Given the description of an element on the screen output the (x, y) to click on. 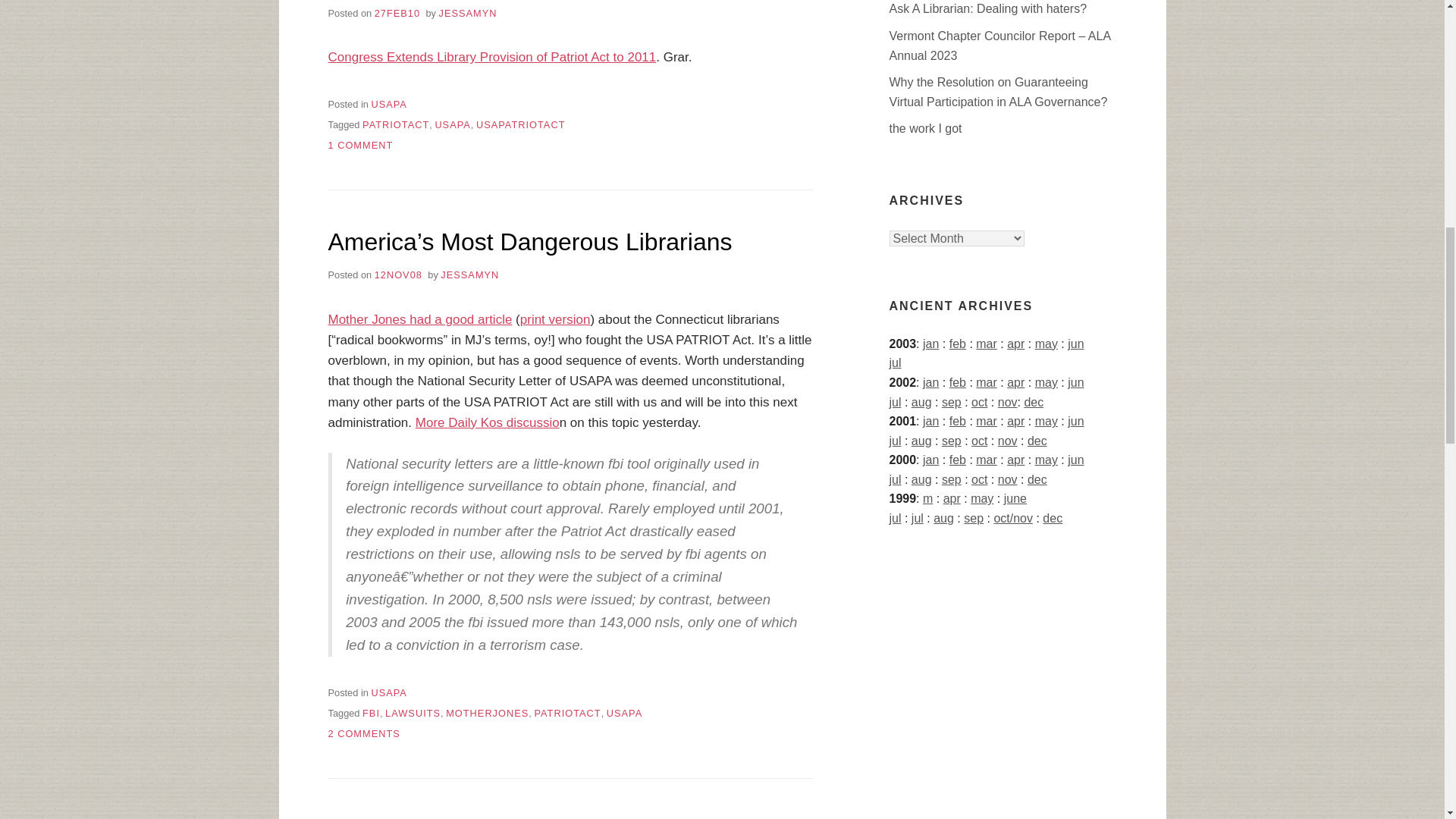
JESSAMYN (470, 274)
Mother Jones had a good article (419, 319)
USAPA (388, 103)
LAWSUITS (413, 713)
print version (555, 319)
FBI (371, 713)
27FEB10 (397, 12)
More Daily Kos discussio (486, 422)
USAPA (624, 713)
12NOV08 (398, 274)
USAPA (451, 124)
PATRIOTACT (395, 124)
JESSAMYN (468, 12)
PATRIOTACT (566, 713)
